Given the description of an element on the screen output the (x, y) to click on. 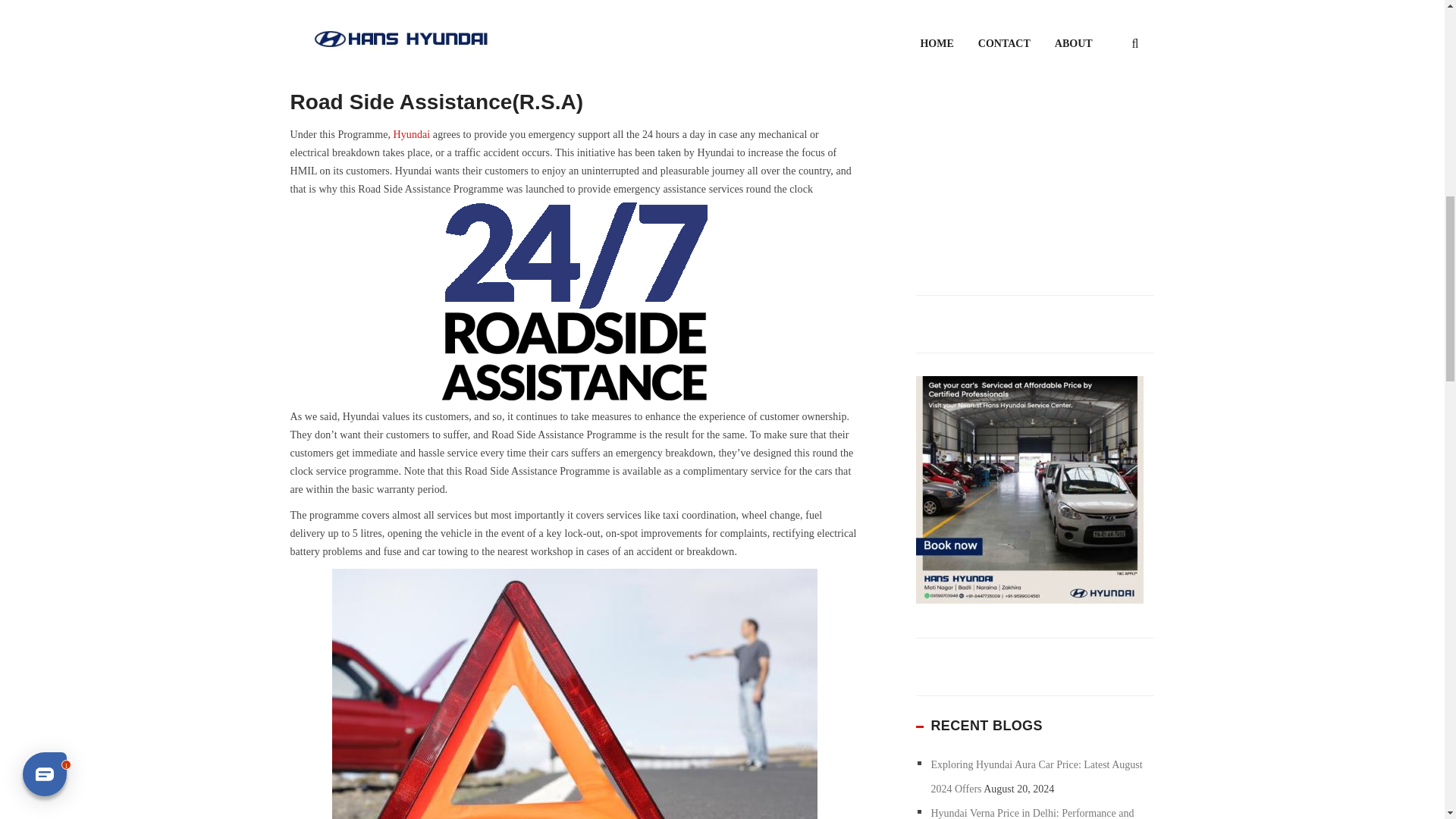
Hyundai Roadside Assistance (457, 6)
Hyundai (411, 134)
Book Hyundai Car Service Now (1028, 489)
Exploring Hyundai Aura Car Price: Latest August 2024 Offers (1036, 776)
